Given the description of an element on the screen output the (x, y) to click on. 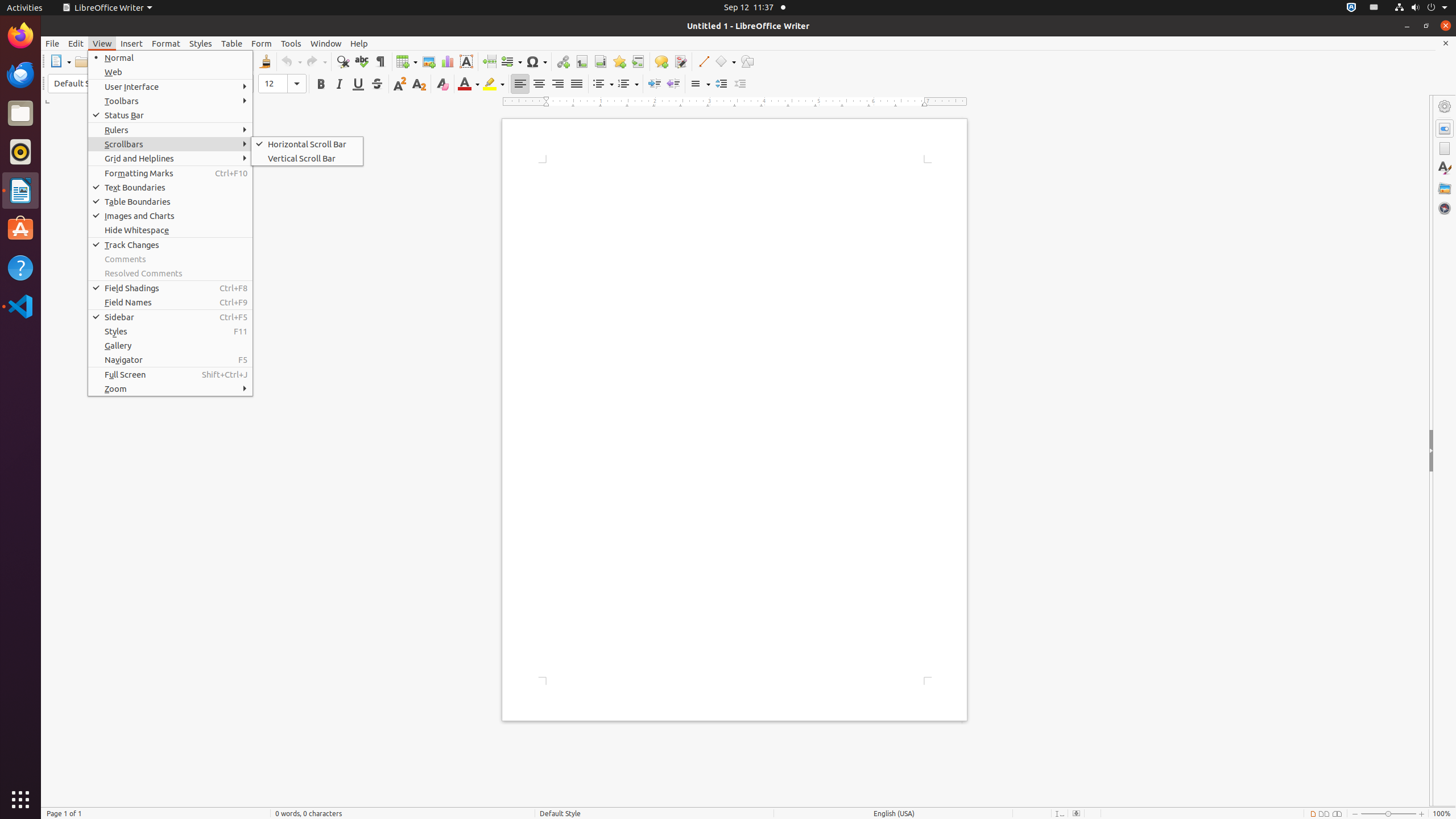
Format Element type: menu (165, 43)
Help Element type: menu (358, 43)
Center Element type: toggle-button (538, 83)
Highlight Color Element type: push-button (493, 83)
Italic Element type: toggle-button (338, 83)
